Given the description of an element on the screen output the (x, y) to click on. 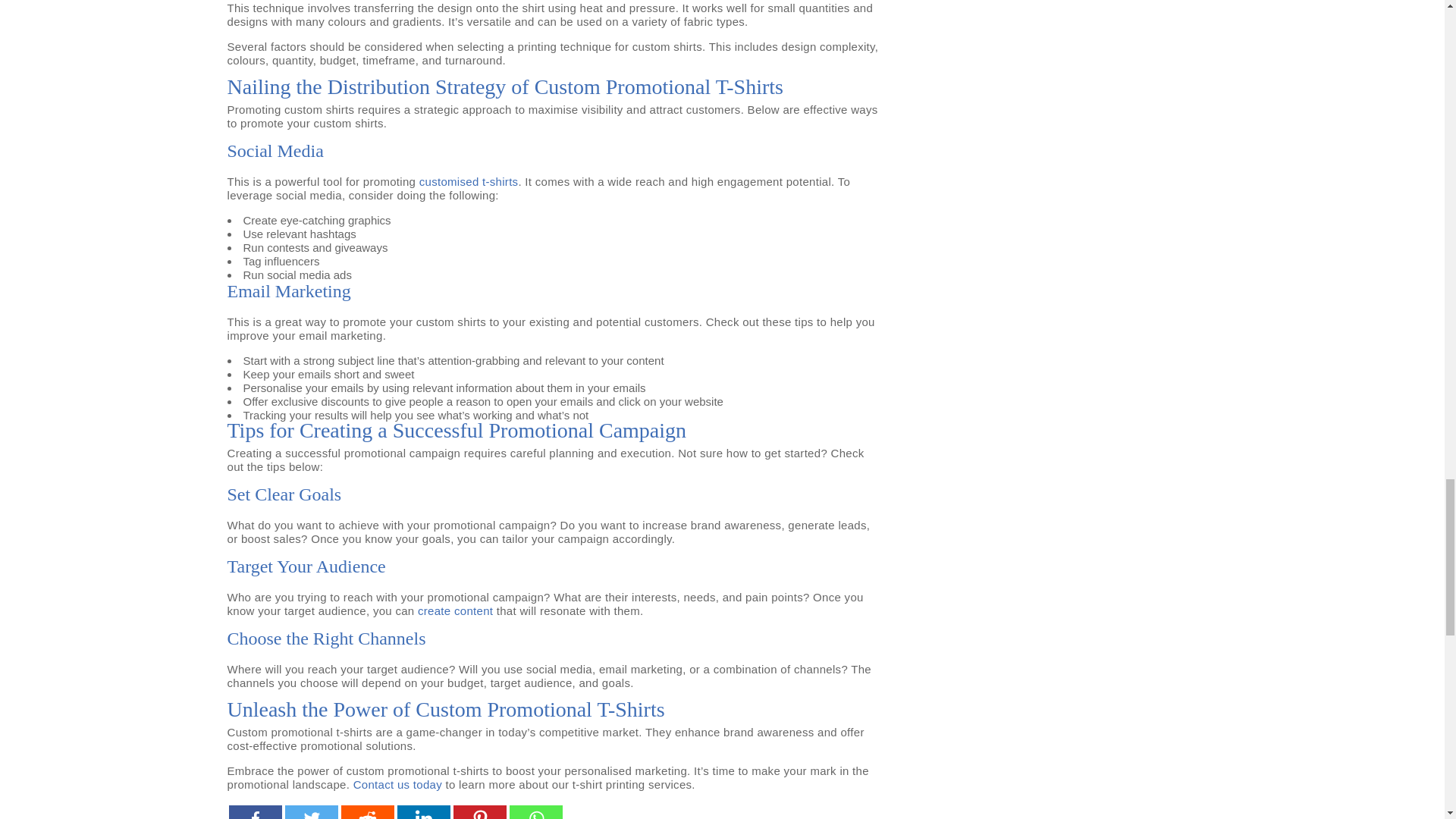
Reddit (367, 812)
Linkedin (423, 812)
Facebook (255, 812)
Pinterest (479, 812)
Whatsapp (535, 812)
Twitter (311, 812)
